Given the description of an element on the screen output the (x, y) to click on. 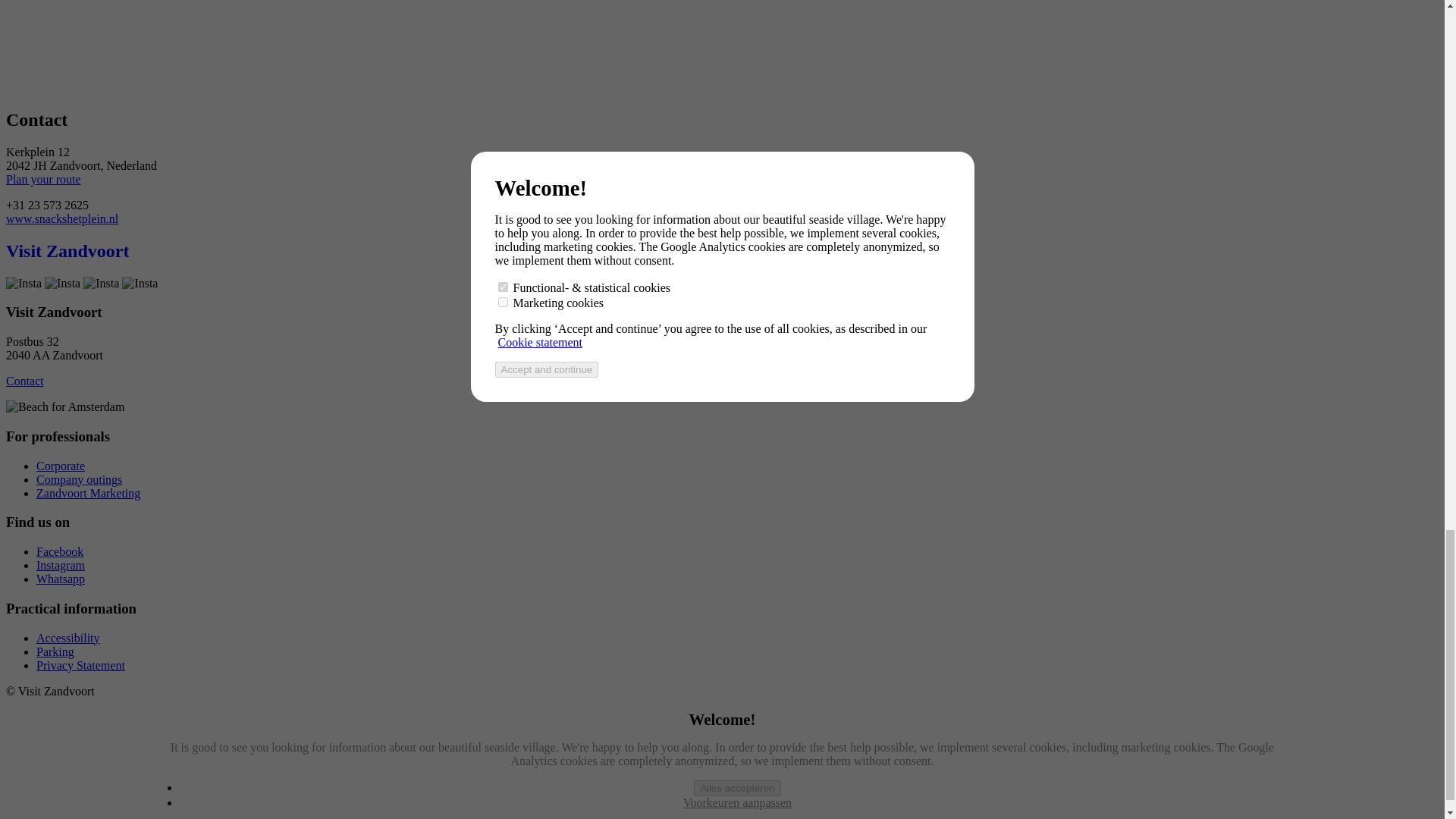
Visit Zandvoort (67, 250)
www.snackshetplein.nl (61, 218)
Company outings (79, 479)
Whatsapp (60, 578)
Plan your route (43, 178)
Instagram (60, 564)
Facebook (59, 551)
Zandvoort Marketing (87, 492)
Corporate (60, 465)
Contact (24, 380)
Alles accepteren (737, 787)
